Given the description of an element on the screen output the (x, y) to click on. 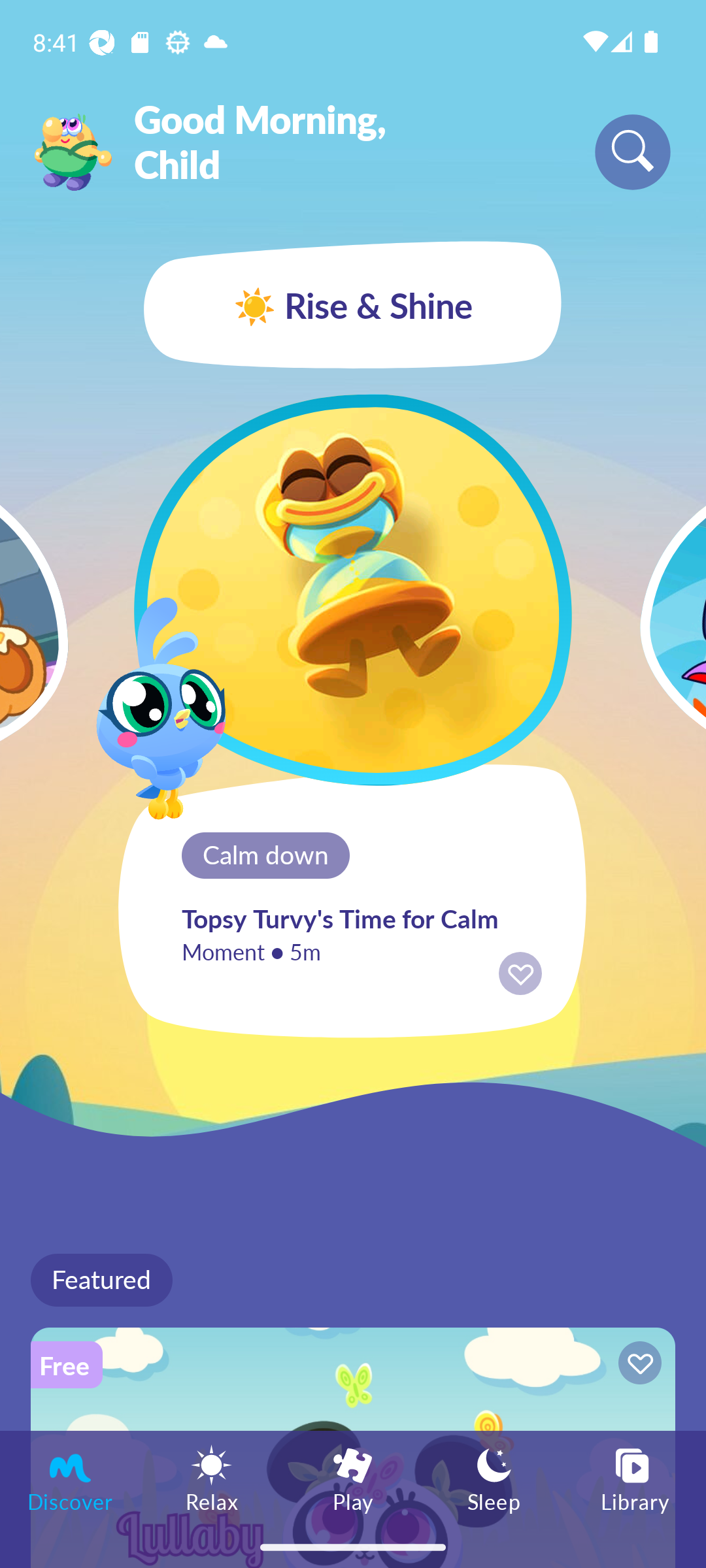
test (62, 589)
action (520, 973)
Button (636, 1365)
Relax (211, 1478)
Play (352, 1478)
Sleep (493, 1478)
Library (635, 1478)
